Given the description of an element on the screen output the (x, y) to click on. 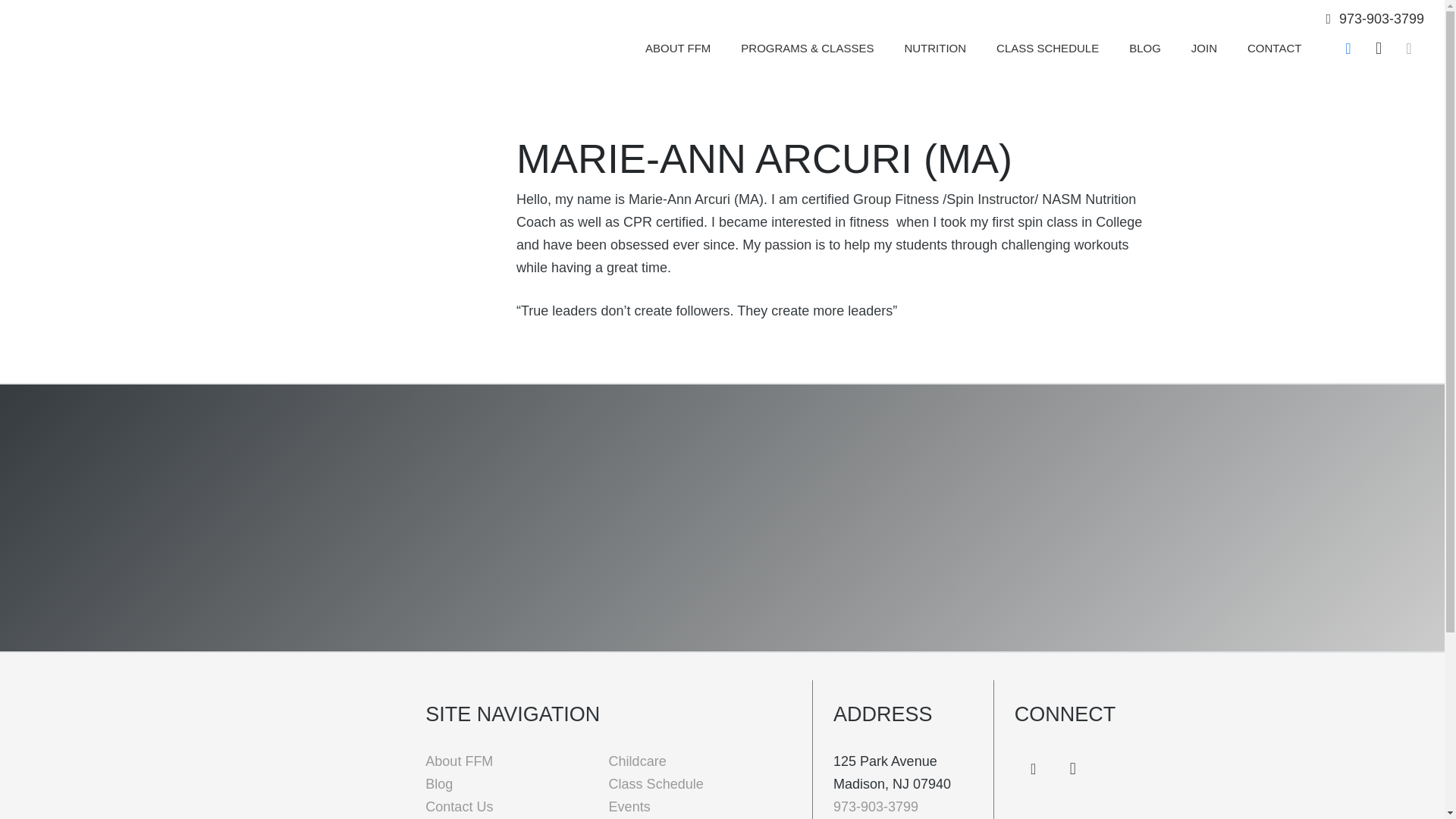
Blog (438, 783)
NUTRITION (934, 47)
Events (629, 806)
Class Schedule (655, 783)
ABOUT FFM (677, 47)
Childcare (637, 761)
973-903-3799 (1373, 17)
Facebook (1033, 768)
Contact Us (459, 806)
Instagram (1377, 48)
